Given the description of an element on the screen output the (x, y) to click on. 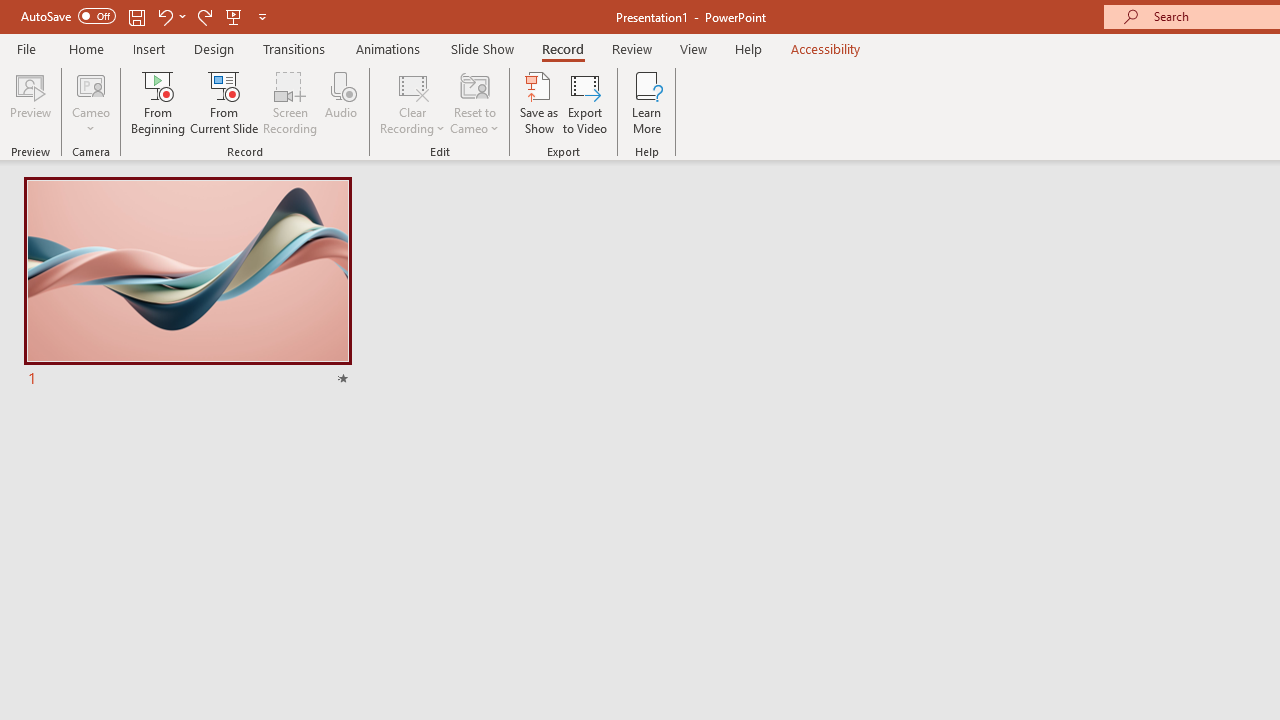
Export to Video (585, 102)
Reset to Cameo (474, 102)
From Current Slide... (224, 102)
